Given the description of an element on the screen output the (x, y) to click on. 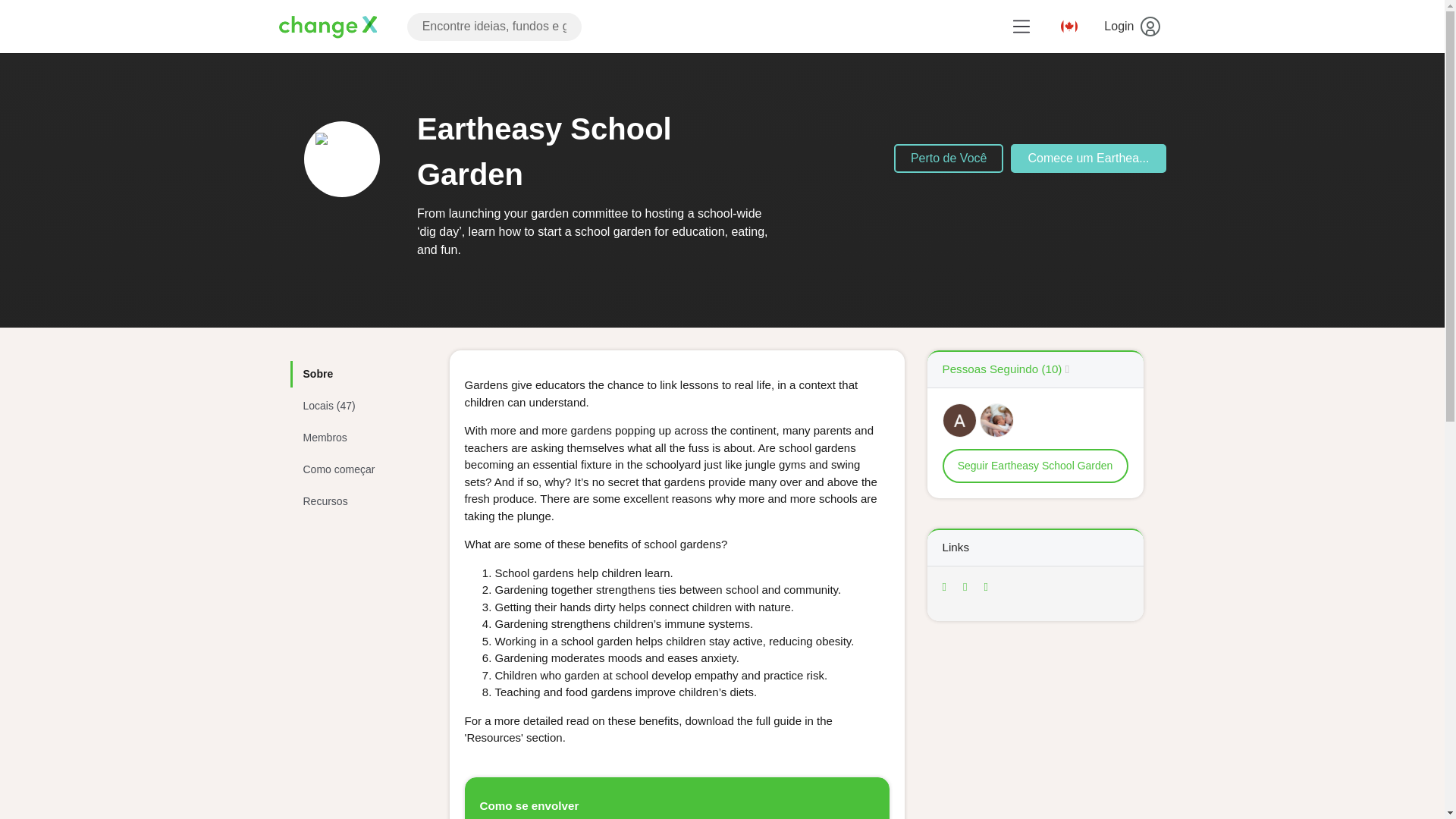
Change region (1068, 26)
Sobre (353, 374)
Comece um Earthea... (1088, 158)
Login (1129, 26)
Seguir Eartheasy School Garden (1035, 465)
Amanda Armentani (959, 420)
Jennifer Ritter (996, 420)
Membros (353, 438)
Recursos (353, 501)
